Given the description of an element on the screen output the (x, y) to click on. 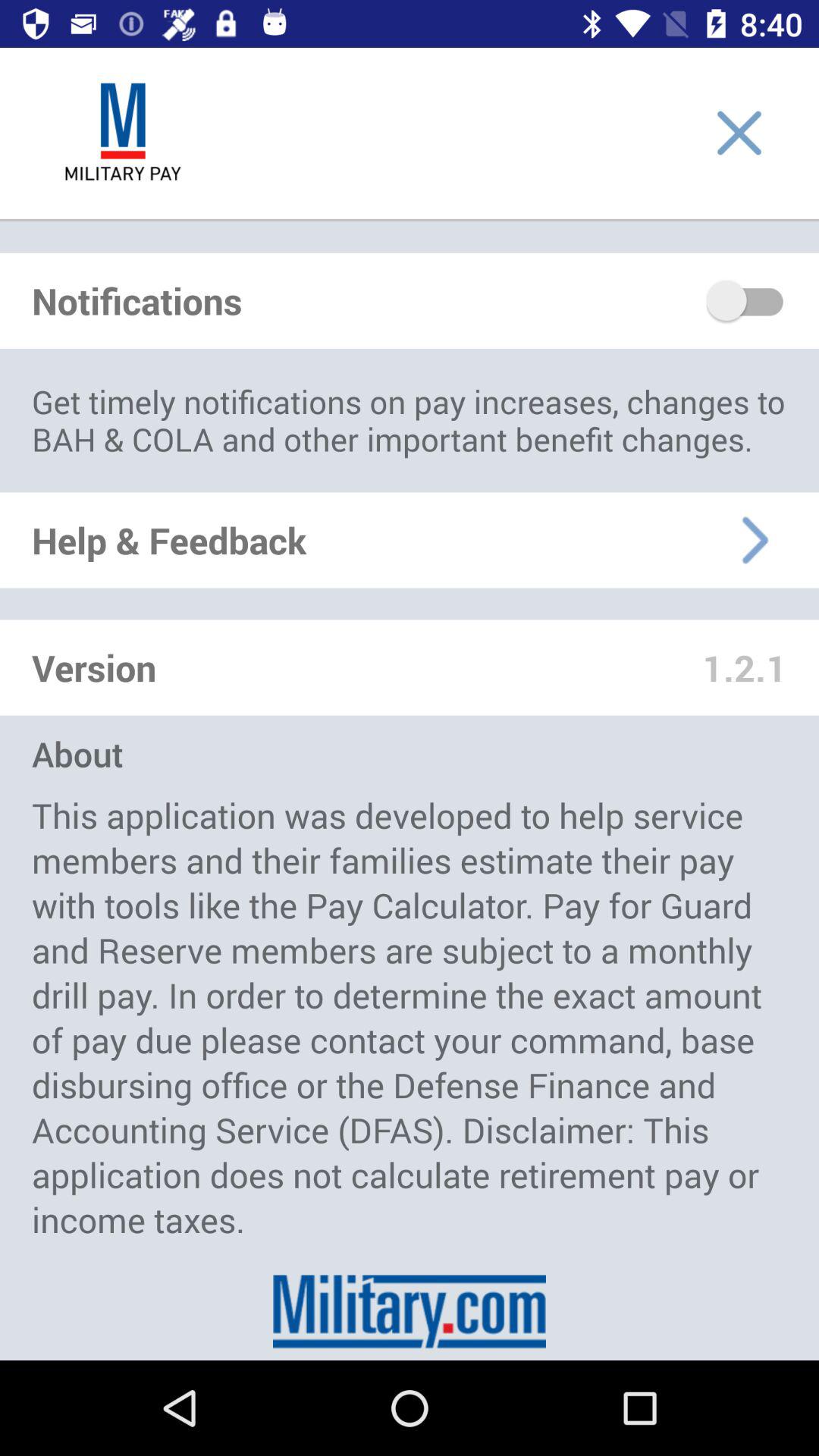
toggle notifications (746, 300)
